Given the description of an element on the screen output the (x, y) to click on. 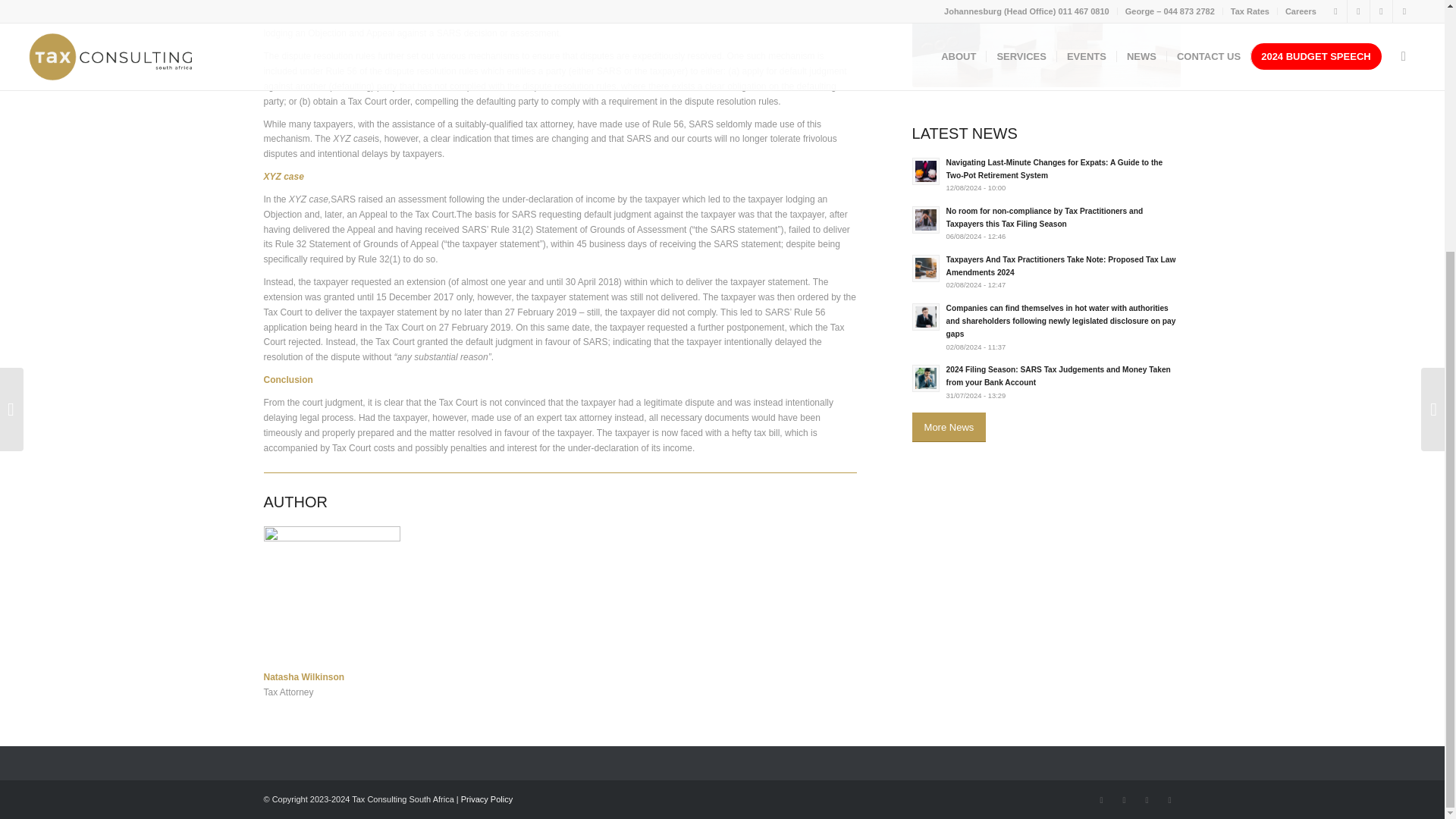
Frivolous Disputes - Taxpayers Beware! (1046, 43)
